Given the description of an element on the screen output the (x, y) to click on. 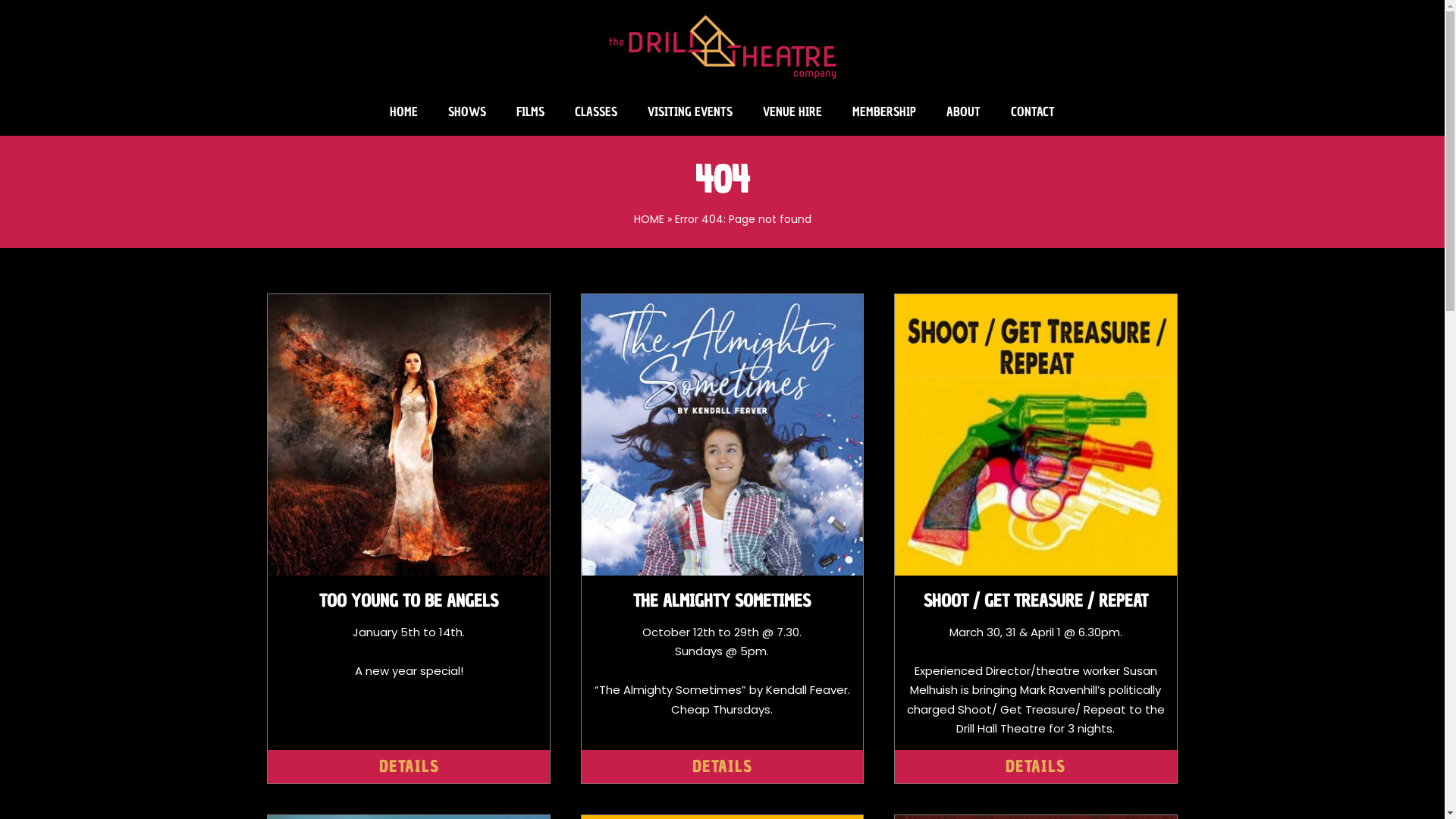
CLASSES Element type: text (595, 111)
CONTACT Element type: text (1032, 111)
VISITING EVENTS Element type: text (689, 111)
ABOUT Element type: text (963, 111)
DETAILS Element type: text (408, 766)
DETAILS Element type: text (721, 766)
FILMS Element type: text (530, 111)
SHOWS Element type: text (467, 111)
DETAILS Element type: text (1035, 766)
VENUE HIRE Element type: text (792, 111)
HOME Element type: text (403, 111)
MEMBERSHIP Element type: text (884, 111)
HOME Element type: text (648, 218)
